Given the description of an element on the screen output the (x, y) to click on. 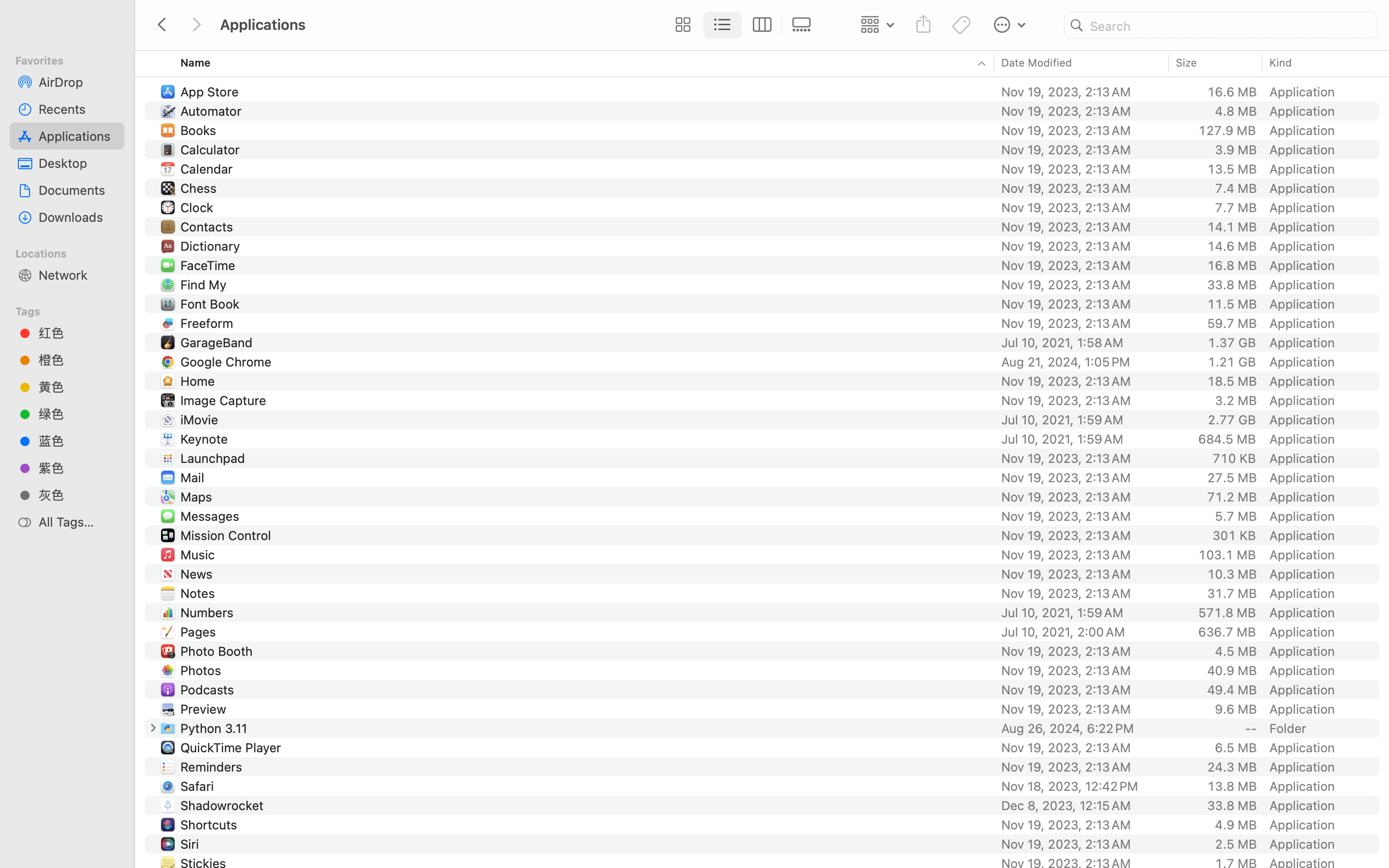
710 KB Element type: AXStaticText (1233, 457)
Notes Element type: AXTextField (199, 592)
Safari Element type: AXTextField (198, 785)
33.8 MB Element type: AXStaticText (1231, 284)
4.5 MB Element type: AXStaticText (1235, 650)
